Given the description of an element on the screen output the (x, y) to click on. 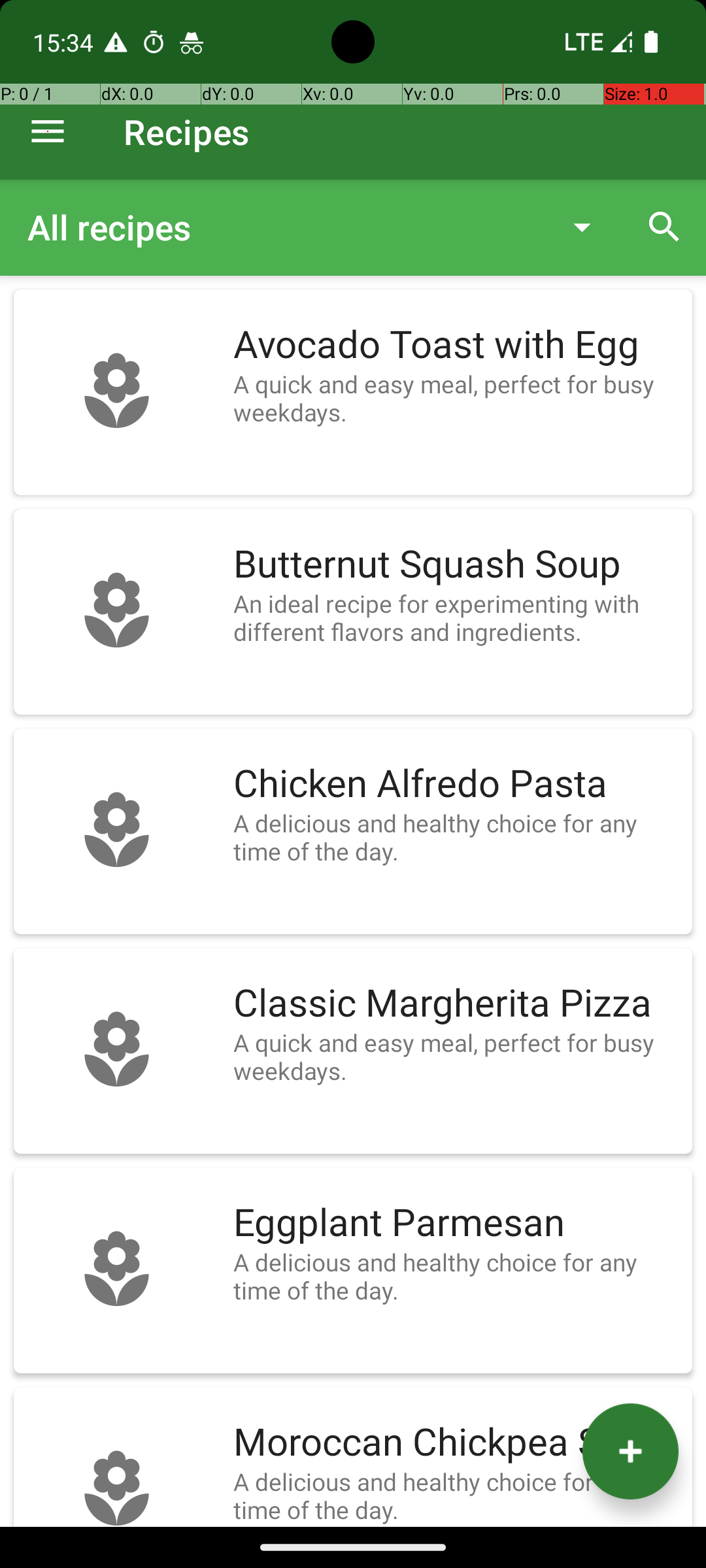
Classic Margherita Pizza Element type: android.widget.TextView (455, 1003)
Eggplant Parmesan Element type: android.widget.TextView (455, 1222)
Moroccan Chickpea Stew Element type: android.widget.TextView (455, 1442)
